Given the description of an element on the screen output the (x, y) to click on. 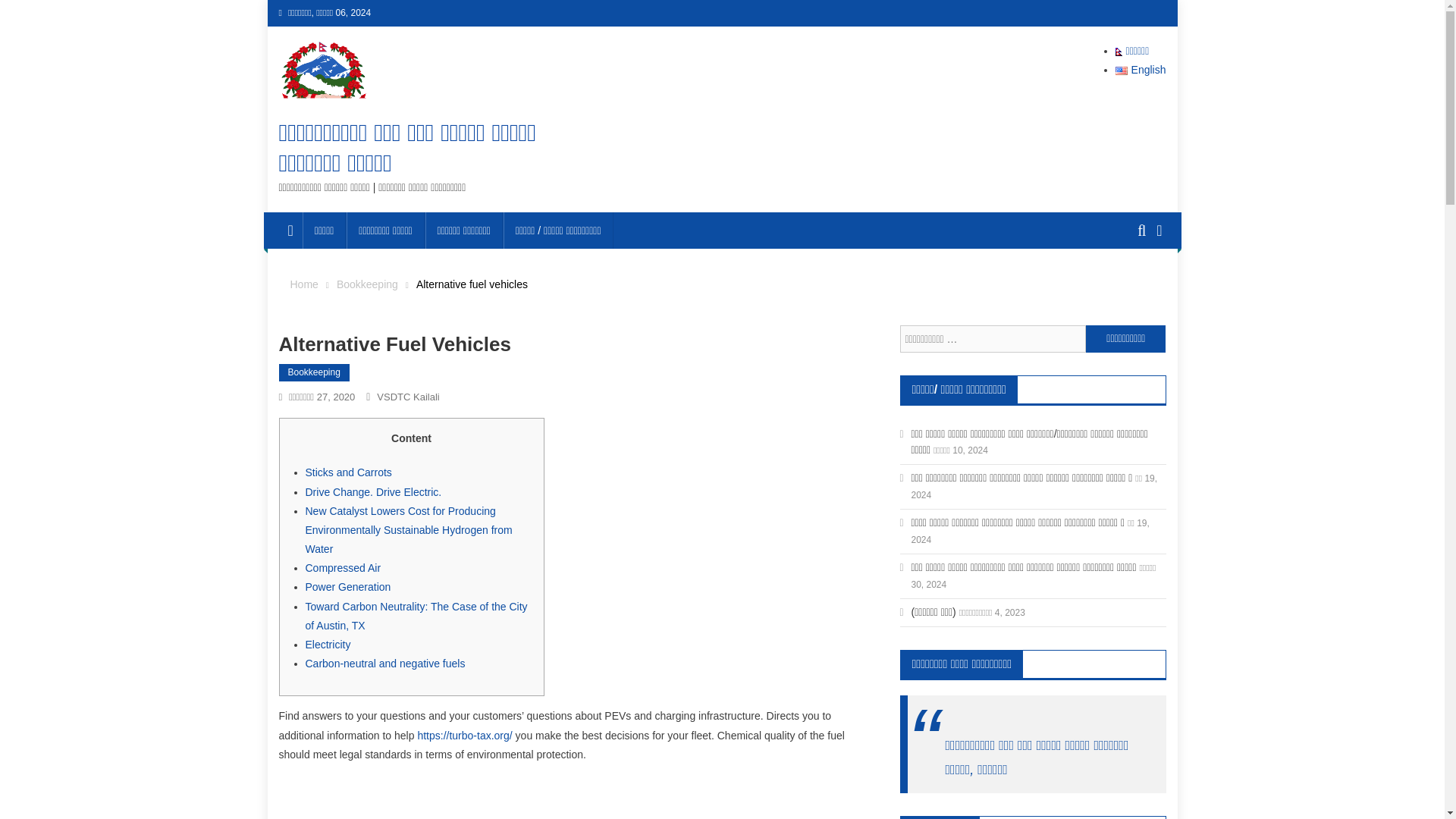
Home (303, 284)
English (1140, 69)
Carbon-neutral and negative fuels (384, 663)
Toward Carbon Neutrality: The Case of the City of Austin, TX (415, 615)
Bookkeeping (366, 284)
Drive Change. Drive Electric. (372, 491)
Sticks and Carrots (347, 472)
Power Generation (347, 586)
Electricity (327, 644)
VSDTC Kailali (408, 396)
Compressed Air (342, 567)
Bookkeeping (314, 372)
